Given the description of an element on the screen output the (x, y) to click on. 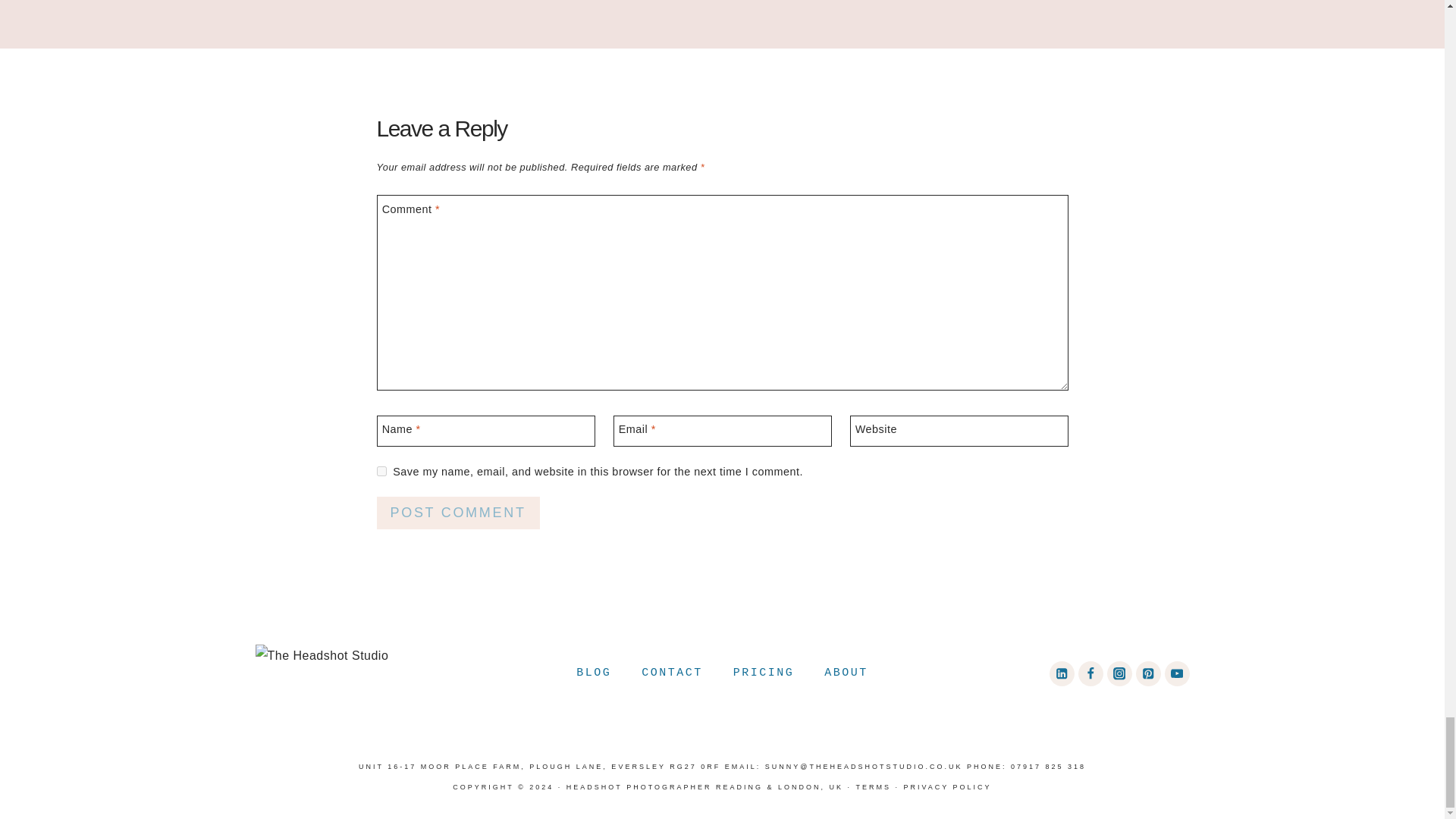
yes (380, 470)
Post Comment (456, 512)
